Given the description of an element on the screen output the (x, y) to click on. 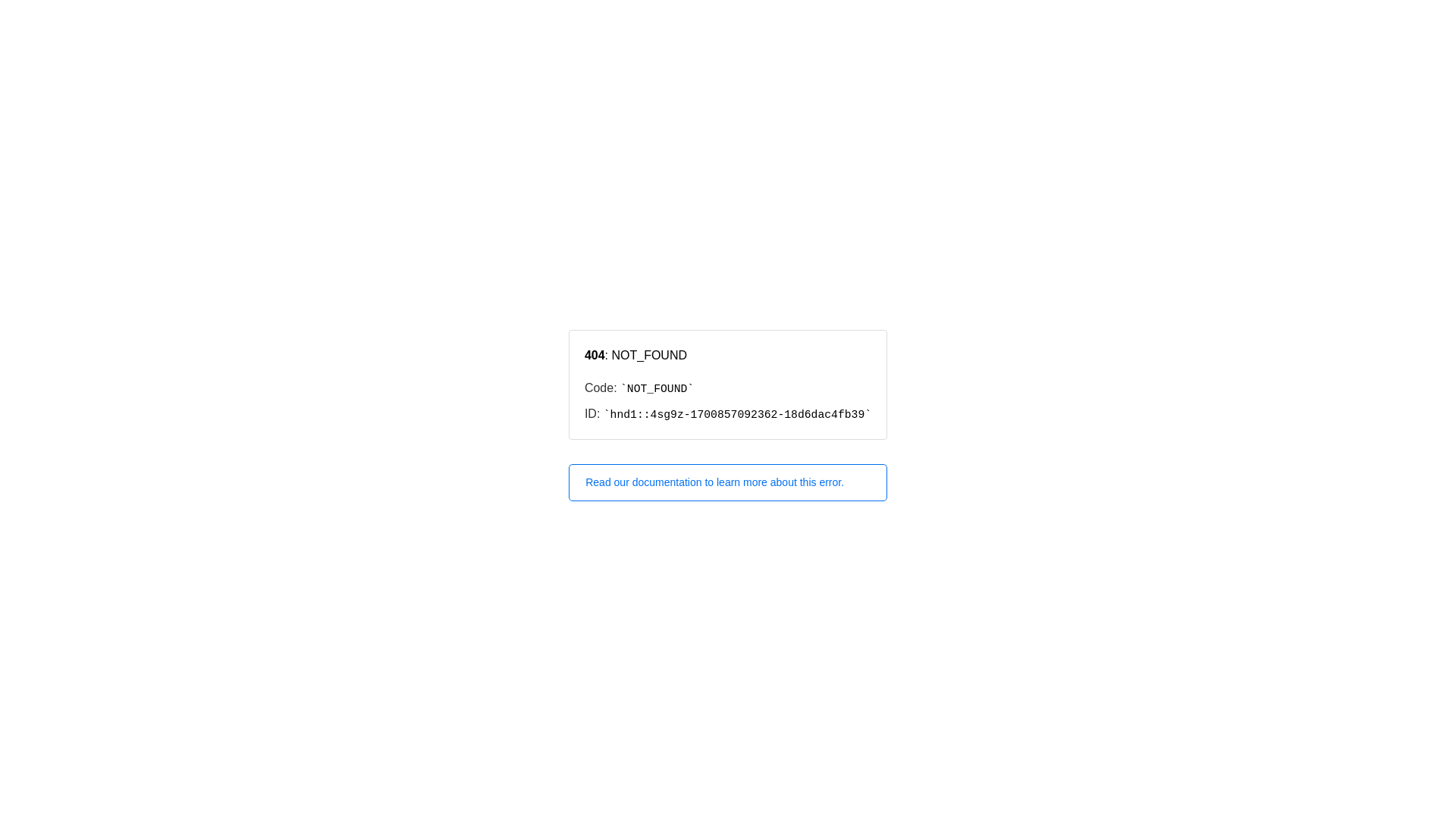
Read our documentation to learn more about this error. Element type: text (727, 482)
